Given the description of an element on the screen output the (x, y) to click on. 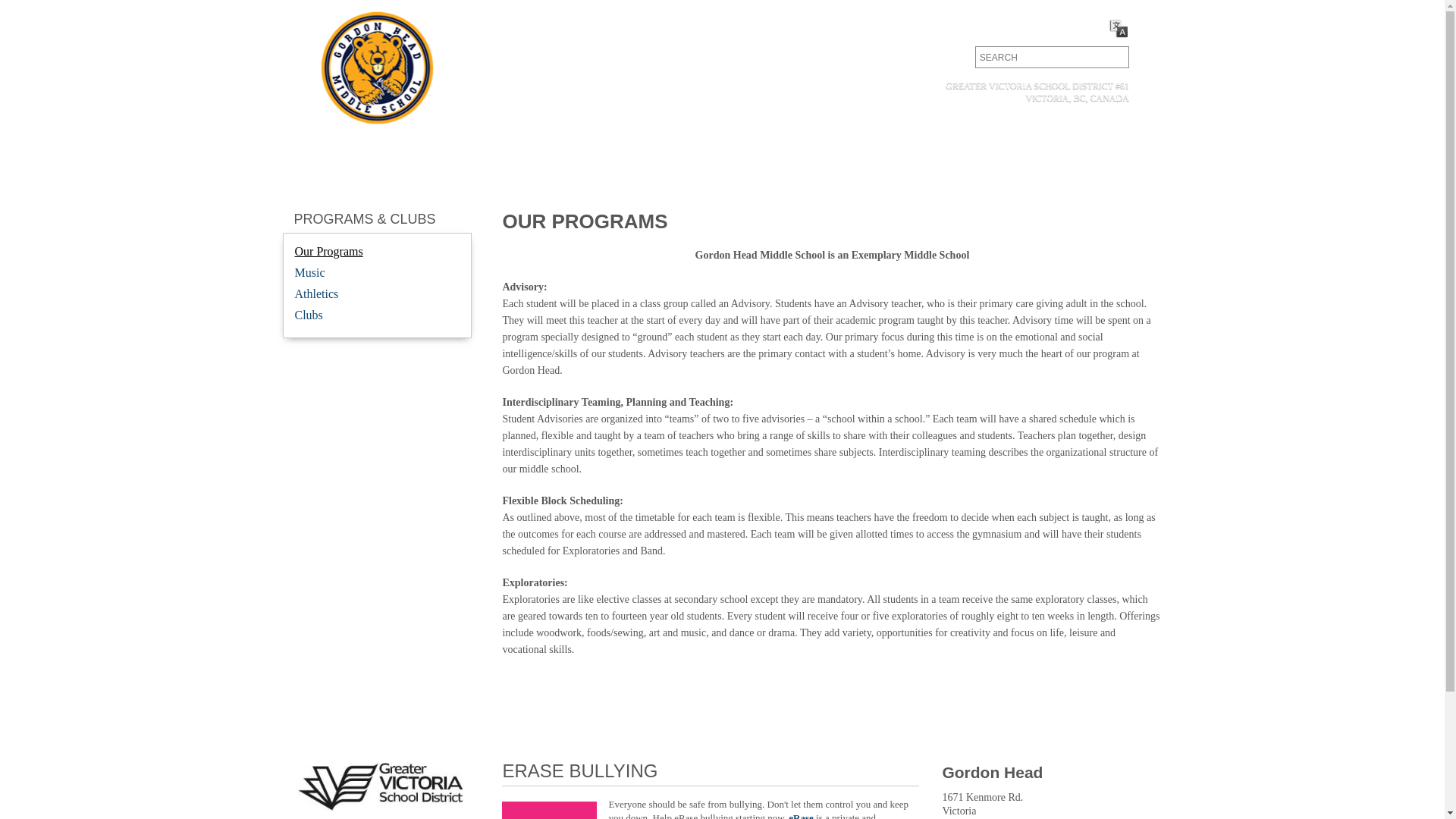
PROGRAMS & CLUBS Element type: text (365, 218)
  Element type: text (1112, 57)
Clubs Element type: text (308, 314)
Athletics Element type: text (316, 293)
Our Programs Element type: text (328, 250)
CONTACT Element type: text (915, 27)
Music Element type: text (309, 272)
ATTENDANCE Element type: text (991, 27)
